Given the description of an element on the screen output the (x, y) to click on. 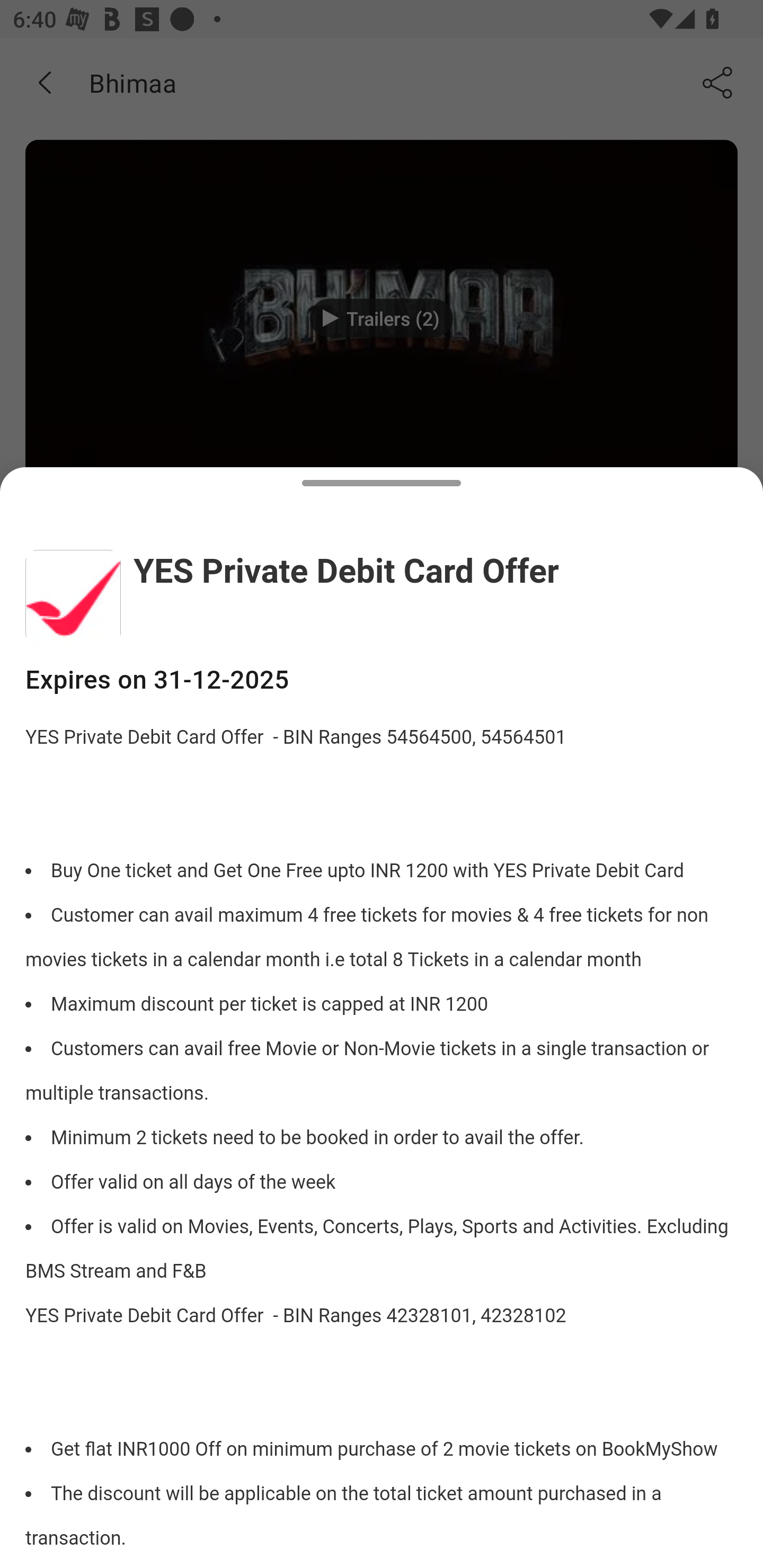
Expires on 31-12-2025 (381, 680)
